Given the description of an element on the screen output the (x, y) to click on. 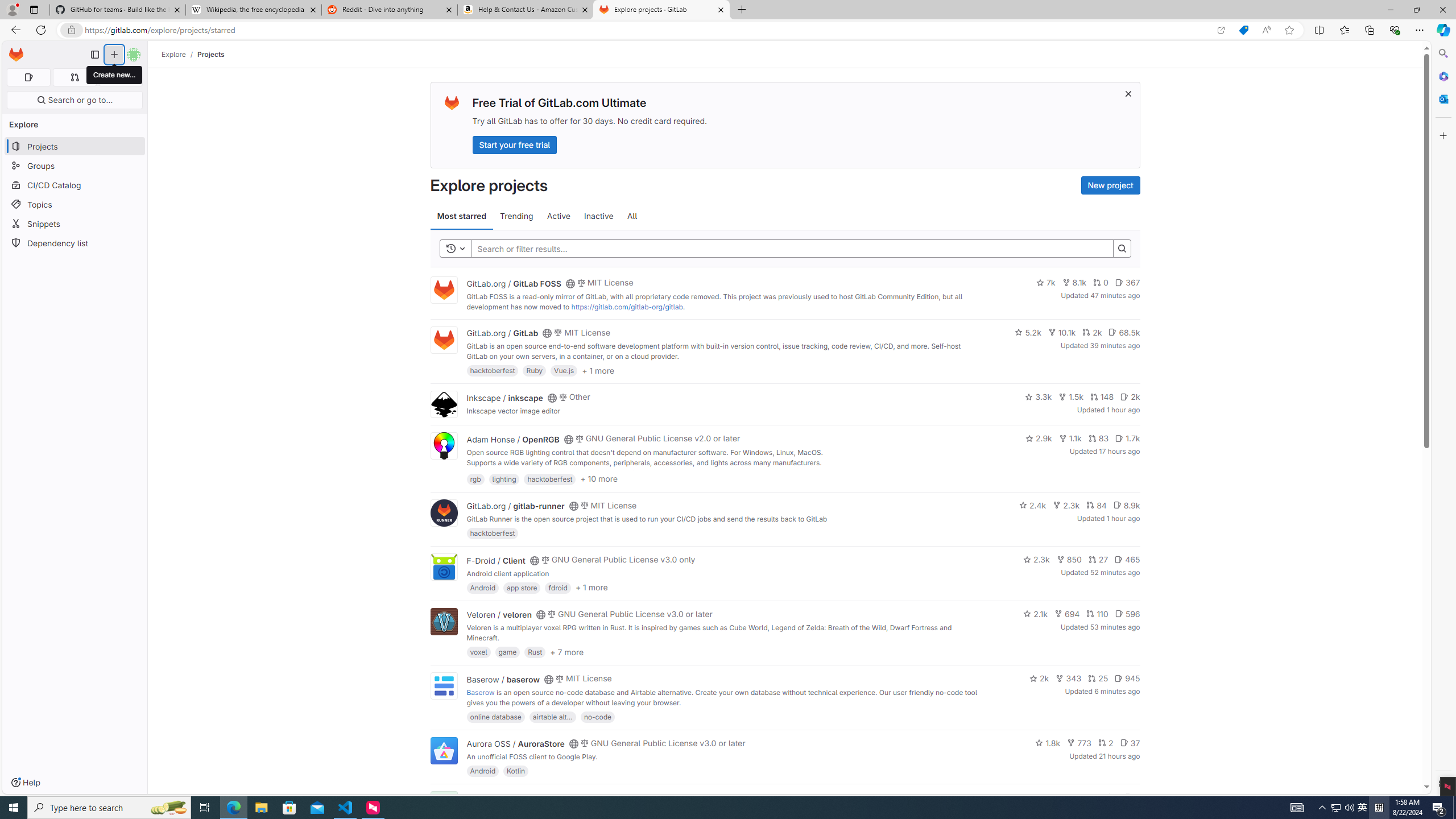
Class: s16 gl-icon gl-button-icon  (1127, 93)
Class: project (443, 750)
New project (1110, 185)
148 (1101, 396)
Start your free trial (514, 144)
3.3k (1038, 396)
Groups (74, 165)
Rust (535, 651)
fdroid (558, 587)
Kotlin (515, 770)
